Given the description of an element on the screen output the (x, y) to click on. 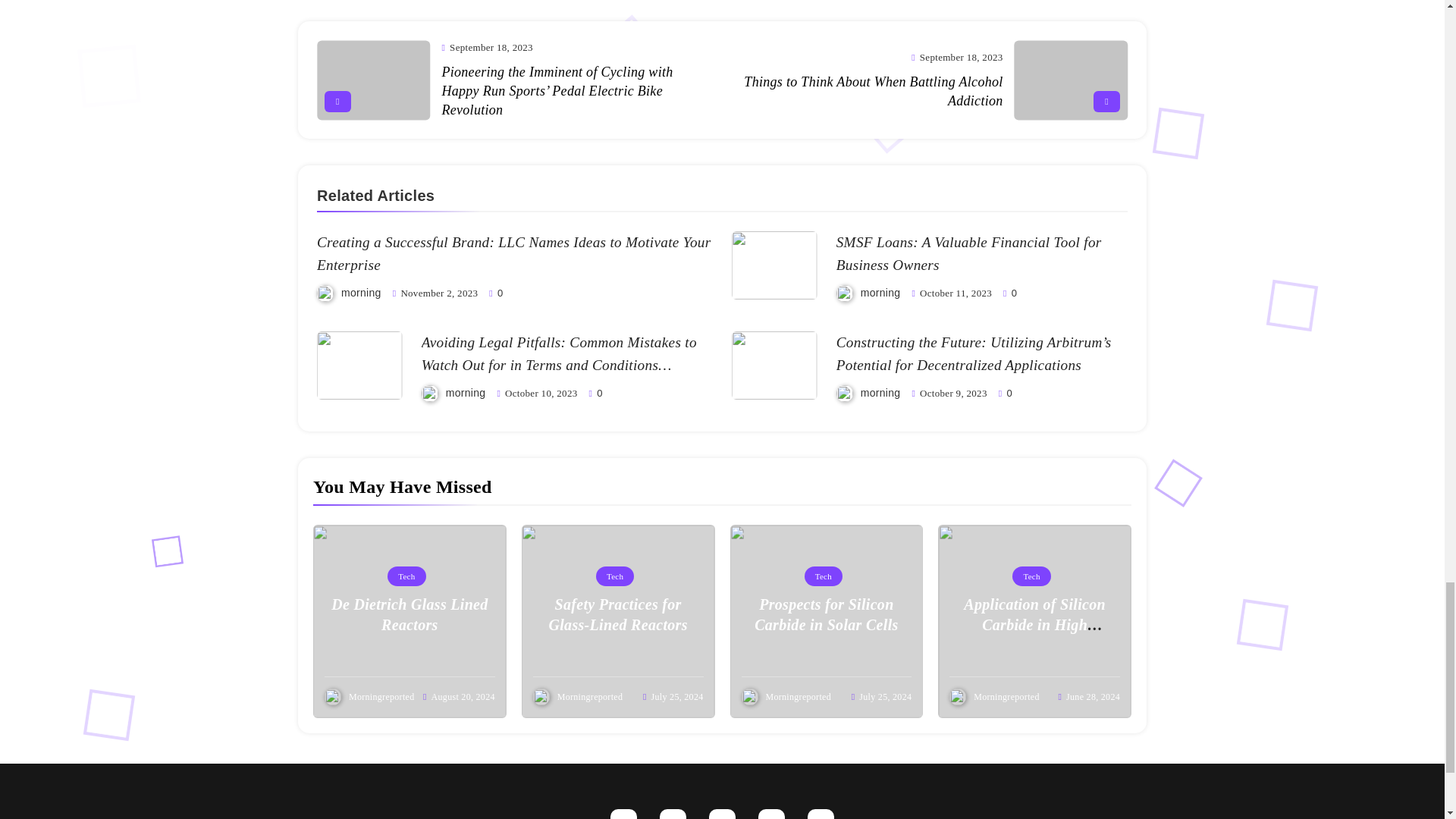
November 2, 2023 (438, 292)
October 10, 2023 (540, 392)
morning (360, 292)
0 (1009, 292)
SMSF Loans: A Valuable Financial Tool for Business Owners (968, 254)
October 9, 2023 (953, 392)
De Dietrich Glass Lined Reactors (409, 615)
morning (465, 392)
Morningreported (381, 696)
